Given the description of an element on the screen output the (x, y) to click on. 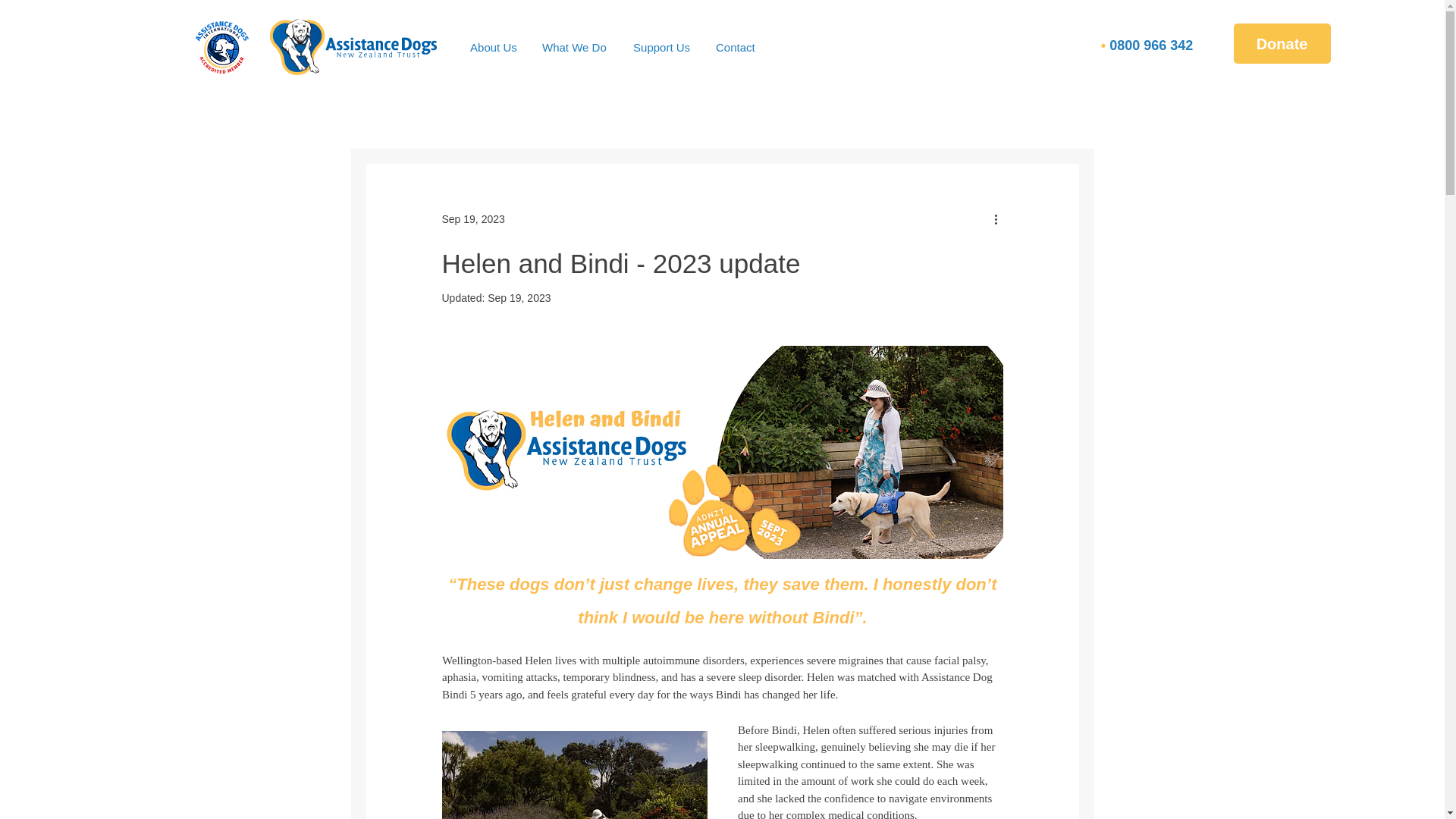
Sep 19, 2023 (472, 218)
About Us (494, 47)
All Posts (387, 117)
Donate (1281, 43)
Contact (737, 47)
Sep 19, 2023 (518, 297)
